Given the description of an element on the screen output the (x, y) to click on. 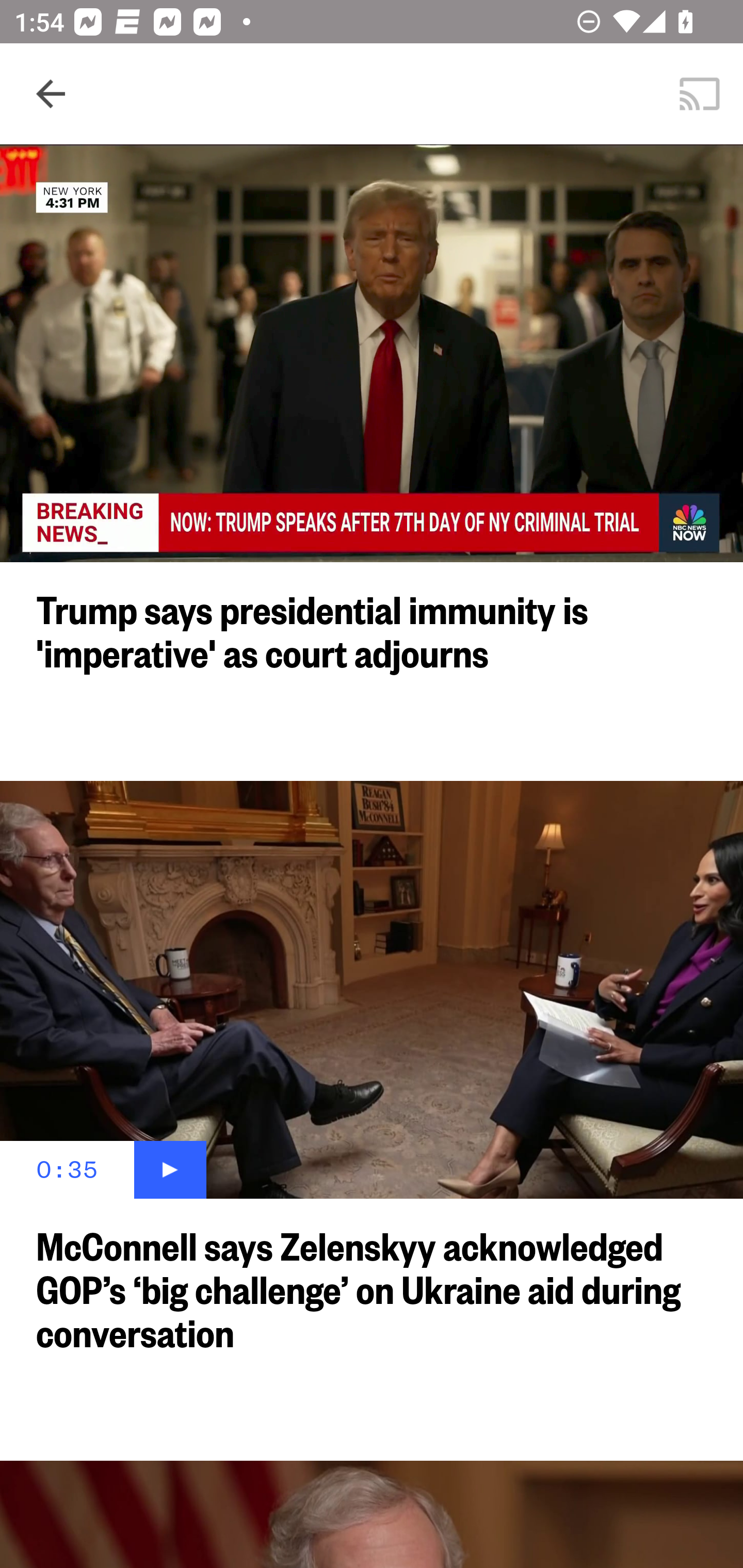
Navigate up (50, 93)
Cast. Disconnected (699, 93)
